Given the description of an element on the screen output the (x, y) to click on. 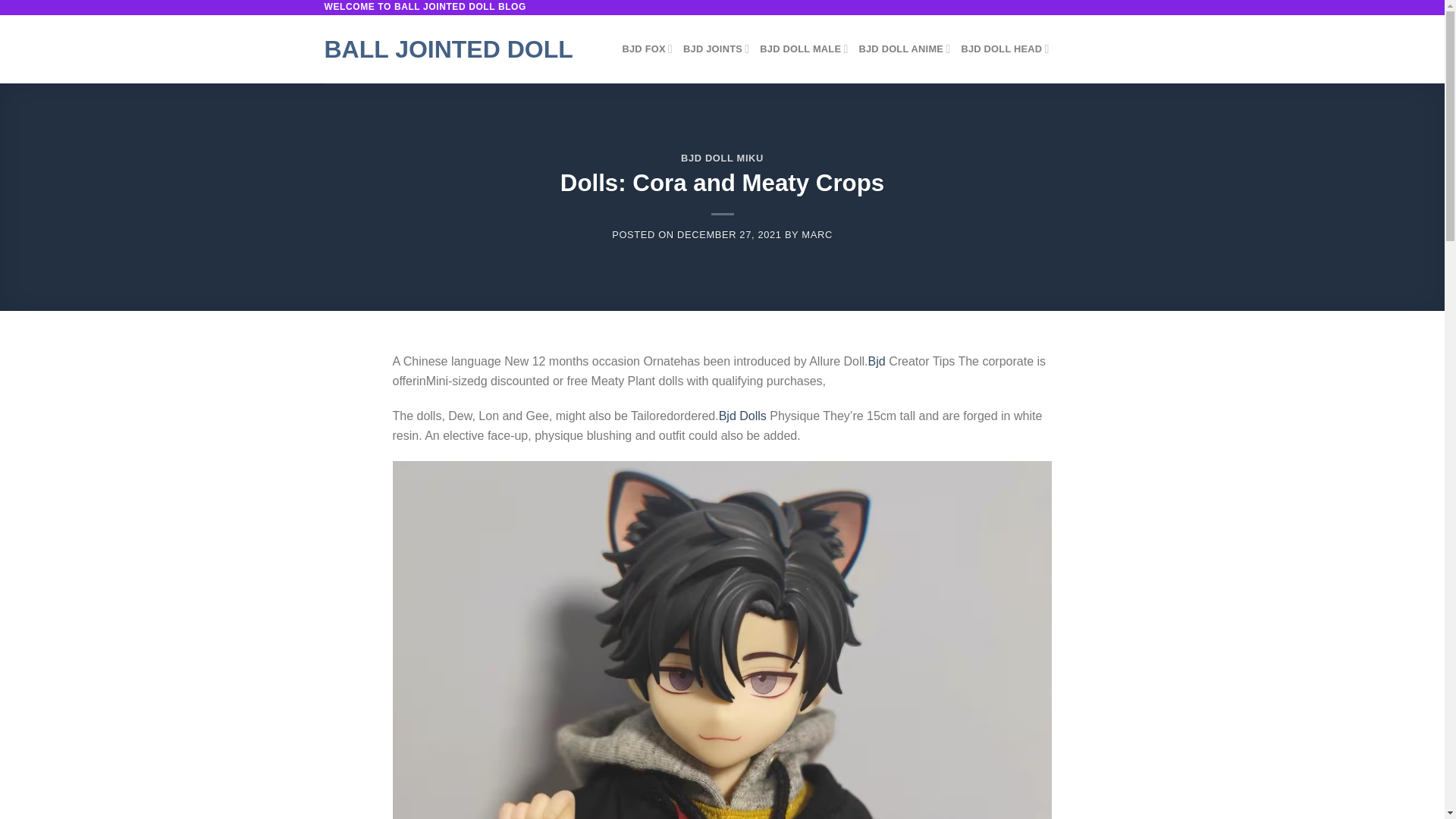
MARC (816, 234)
Bjd Dolls (743, 415)
DECEMBER 27, 2021 (729, 234)
BALL JOINTED DOLL (461, 48)
BJD DOLL MALE (803, 49)
BJD DOLL HEAD (1004, 49)
bjd dolls (743, 415)
BJD FOX (646, 49)
bjd (876, 360)
BALL JOINTED DOLL  (461, 48)
BJD DOLL ANIME (904, 49)
BJD DOLL MIKU (721, 157)
BJD JOINTS (715, 49)
Bjd (876, 360)
